Given the description of an element on the screen output the (x, y) to click on. 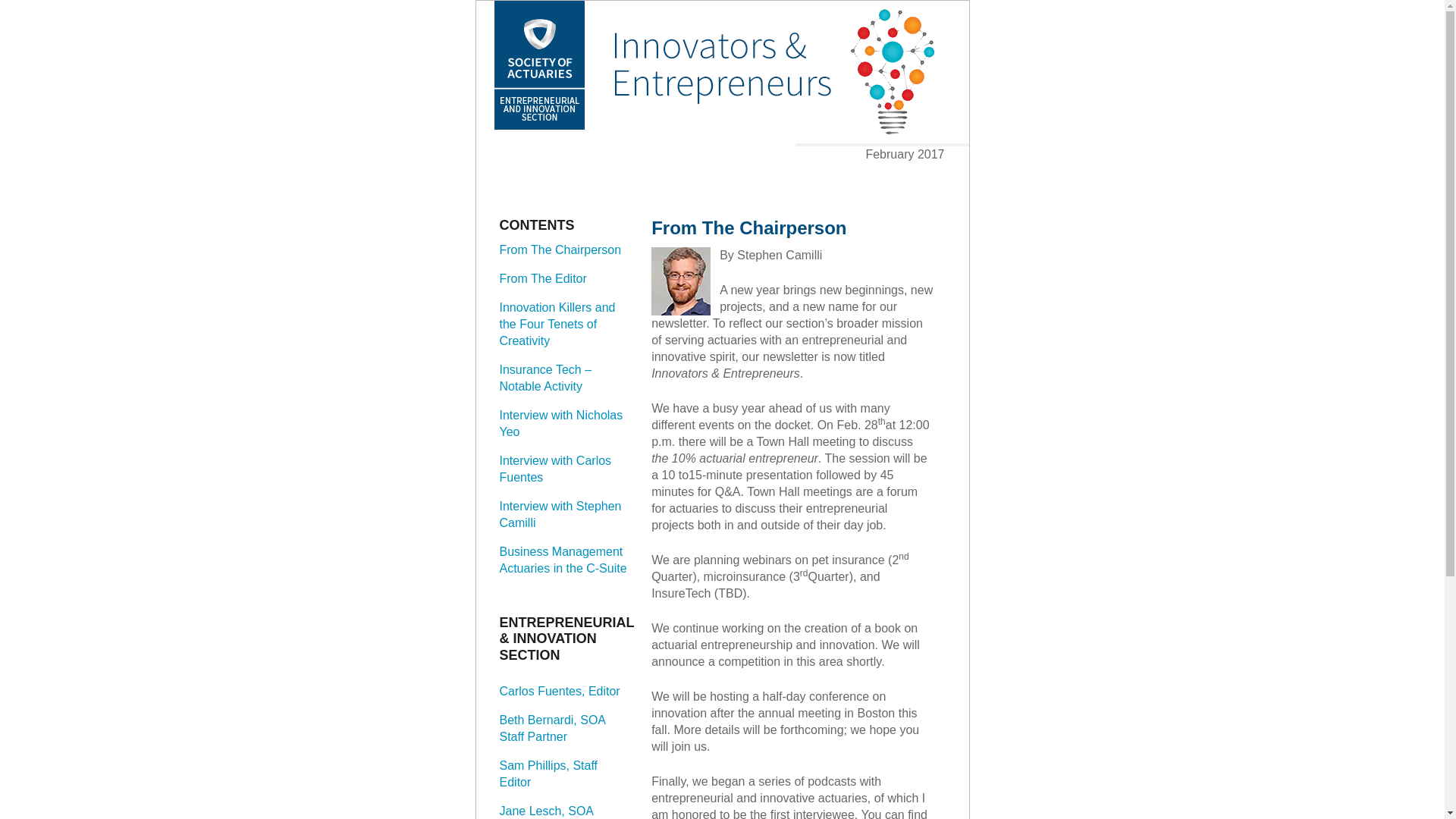
Innovation Killers and the Four Tenets of Creativity (556, 324)
From The Editor (542, 278)
From The Chairperson (560, 249)
Jane Lesch, SOA Section Specialist (546, 811)
Interview with Stephen Camilli (560, 514)
Sam Phillips, Staff Editor (547, 773)
Beth Bernardi, SOA Staff Partner (552, 727)
Business Management Actuaries in the C-Suite (562, 559)
Interview with Nicholas Yeo (561, 423)
Carlos Fuentes, Editor (559, 690)
